Given the description of an element on the screen output the (x, y) to click on. 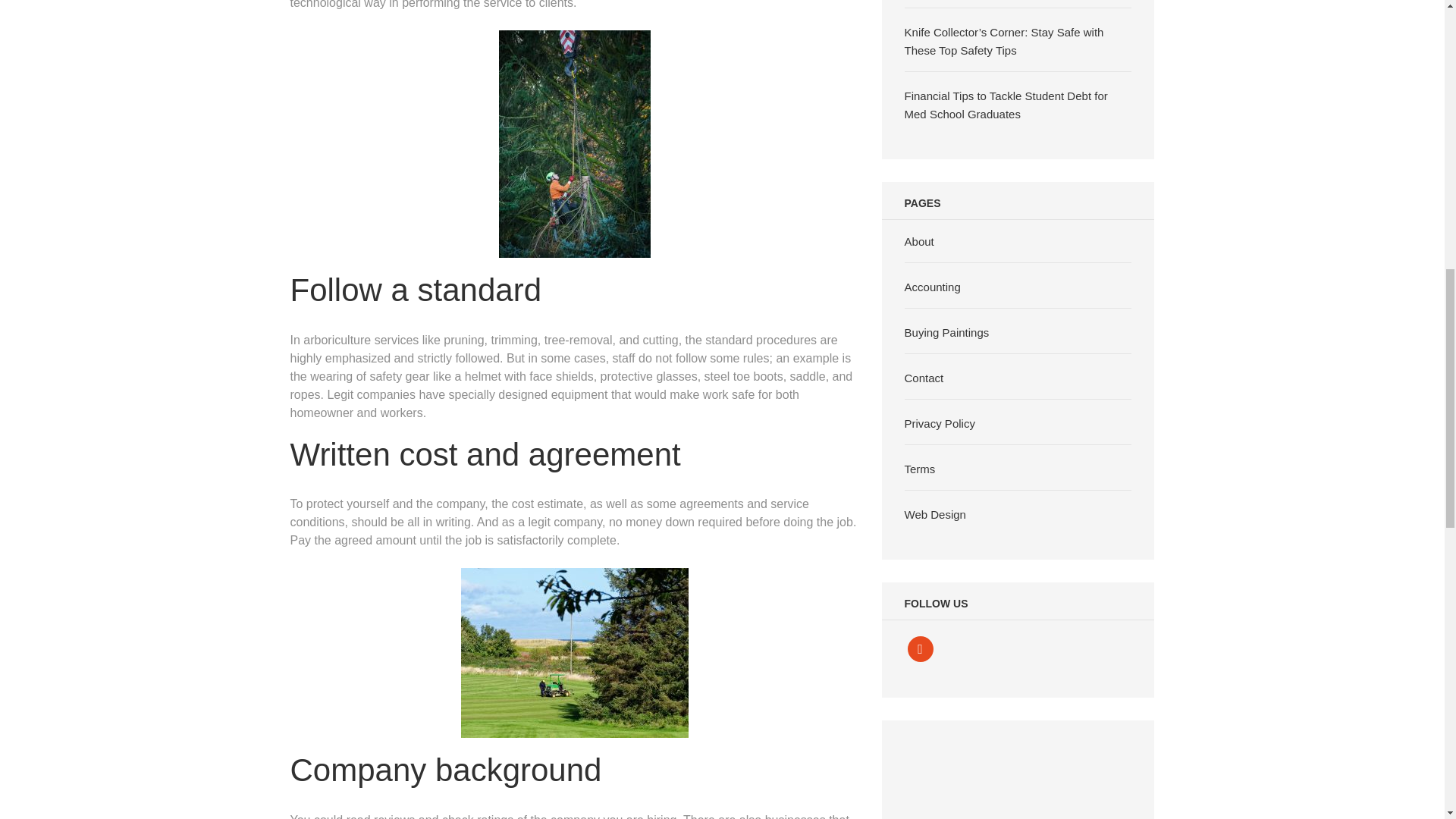
Instagram (920, 647)
